Given the description of an element on the screen output the (x, y) to click on. 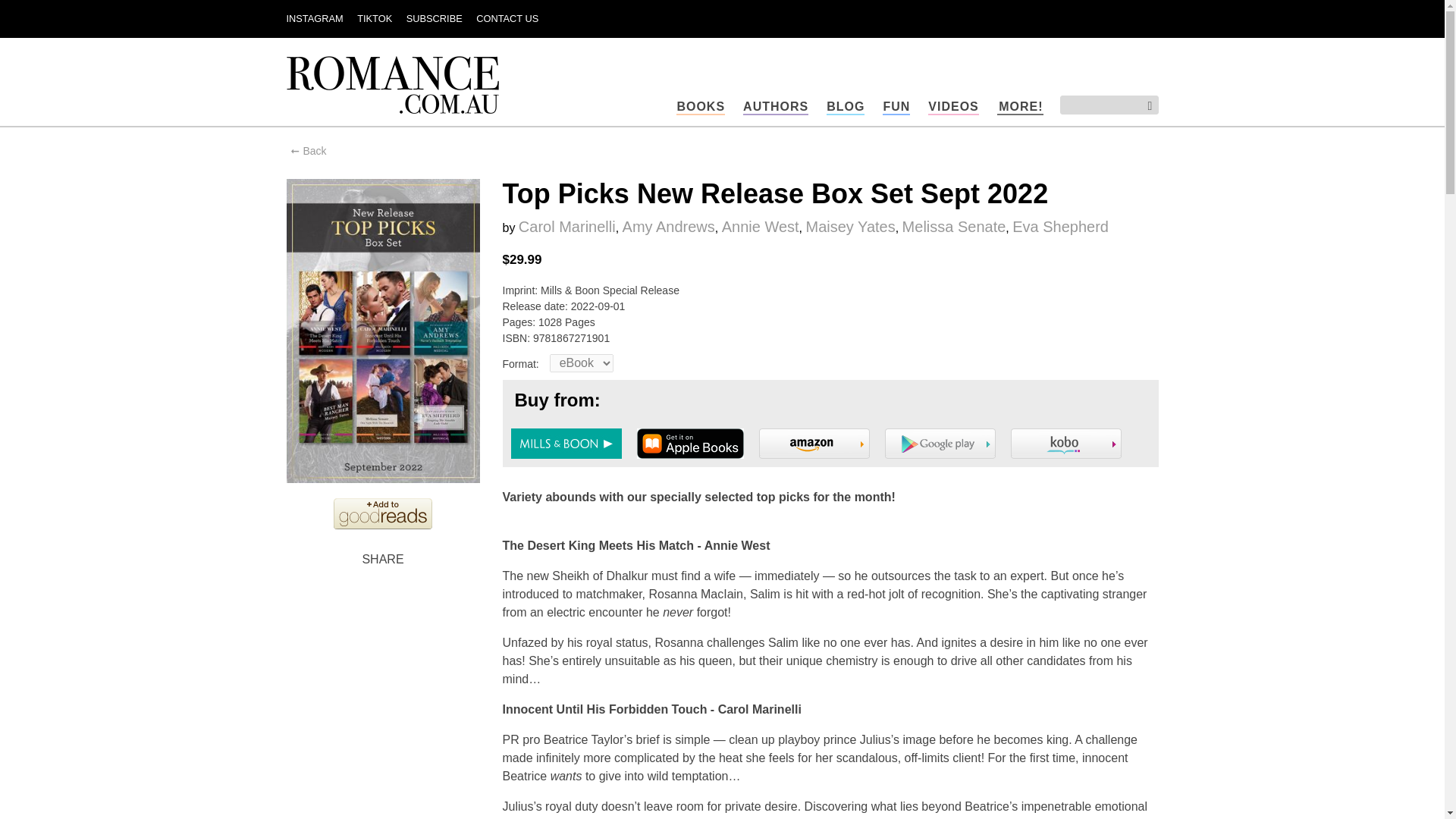
BLOG (845, 107)
VIDEOS (953, 107)
MORE! (1020, 107)
TIKTOK (373, 18)
Search (1144, 106)
INSTAGRAM (314, 18)
CONTACT US (507, 18)
Search (1144, 106)
AUTHORS (775, 107)
BOOKS (701, 107)
